Given the description of an element on the screen output the (x, y) to click on. 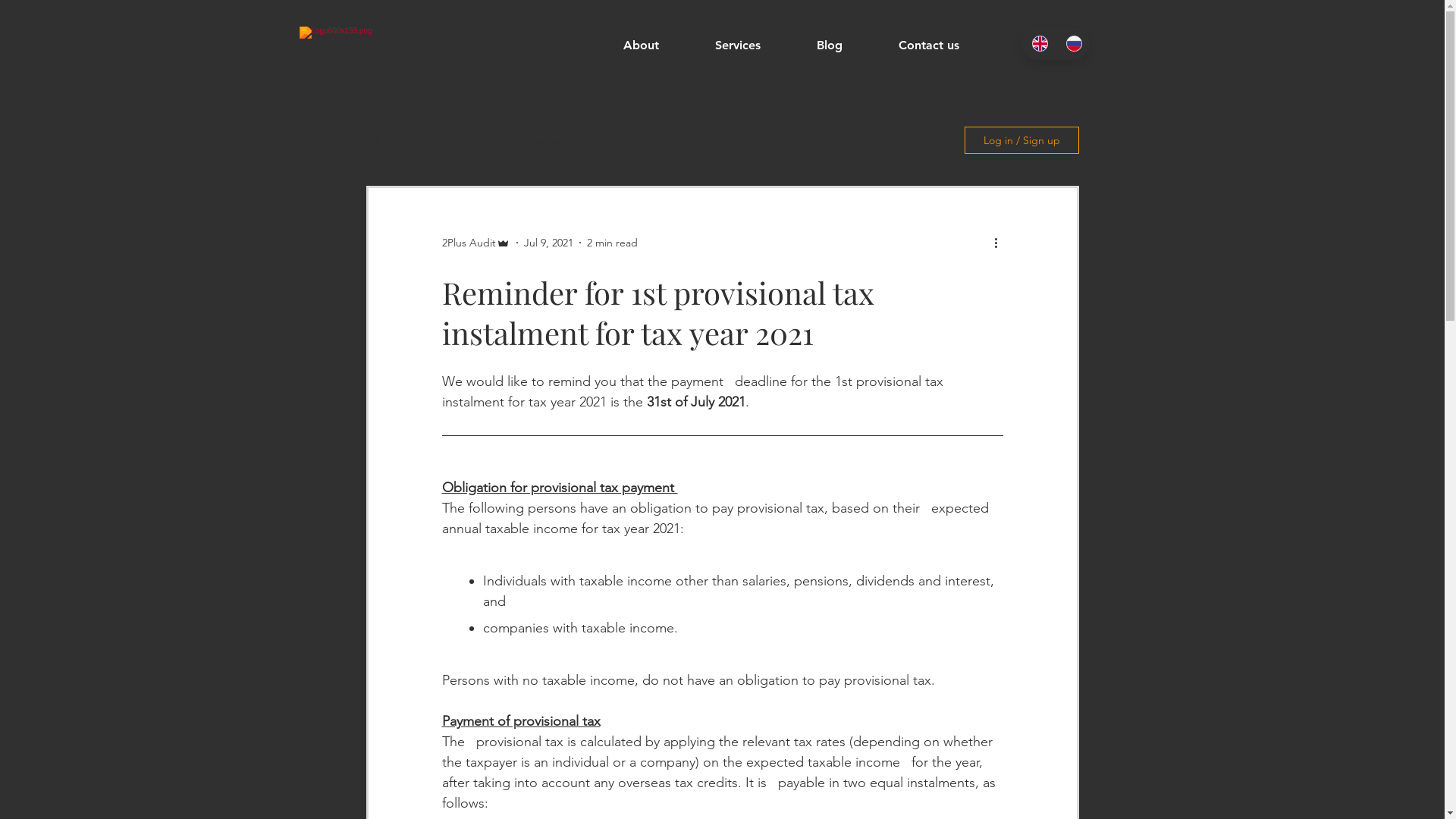
Russian Element type: text (544, 139)
About Element type: text (656, 45)
Blog Element type: text (846, 45)
English Element type: text (469, 139)
Services Element type: text (754, 45)
Contact us Element type: text (945, 45)
Log in / Sign up Element type: text (1021, 139)
All Posts Element type: text (391, 139)
